Given the description of an element on the screen output the (x, y) to click on. 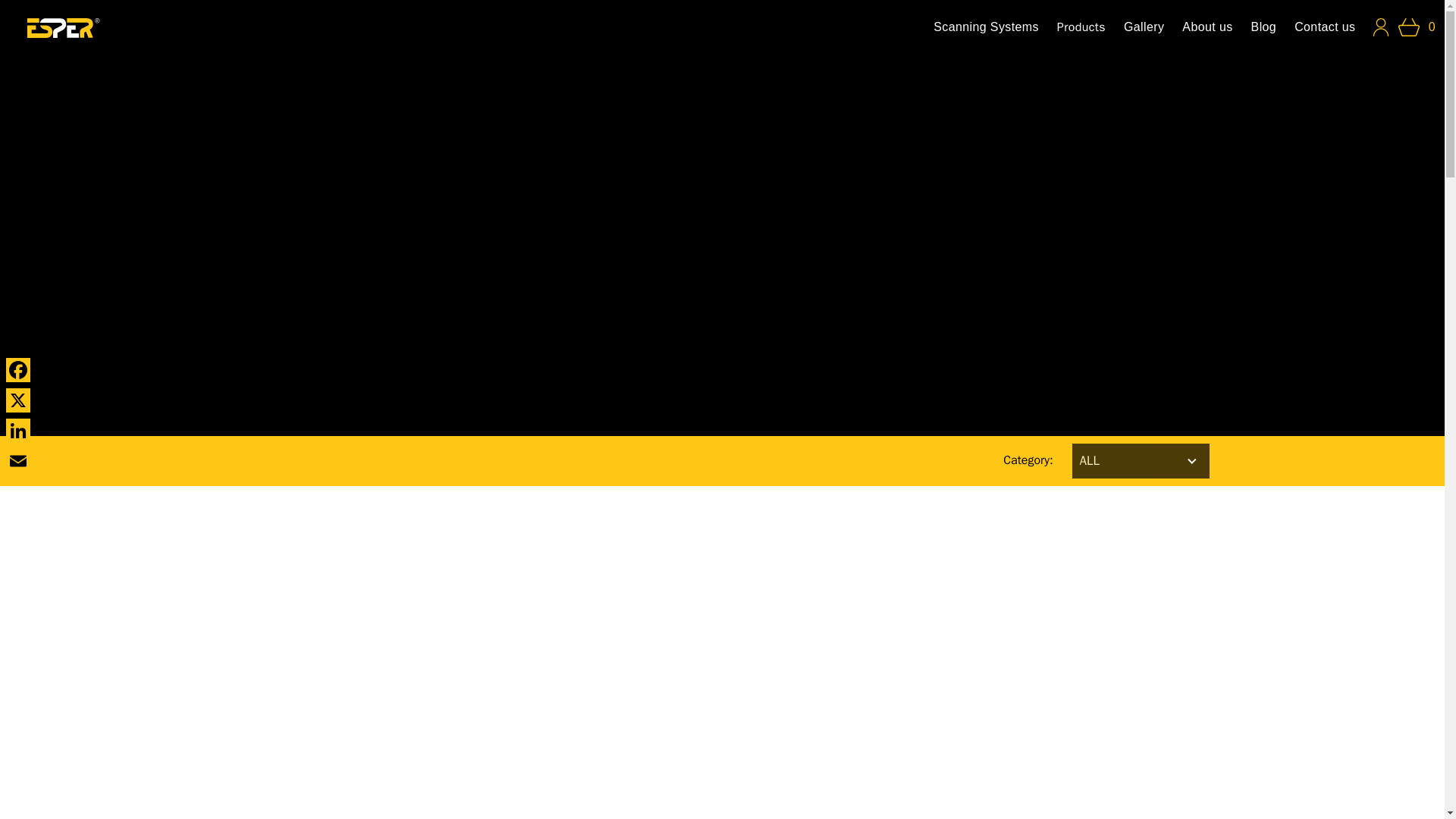
0 (1416, 27)
Blog (1263, 27)
About us (1206, 27)
Gallery (1143, 27)
X (17, 399)
Scanning Systems (986, 27)
LinkedIn (17, 430)
Products (1081, 27)
Facebook (17, 369)
Email (17, 460)
